Given the description of an element on the screen output the (x, y) to click on. 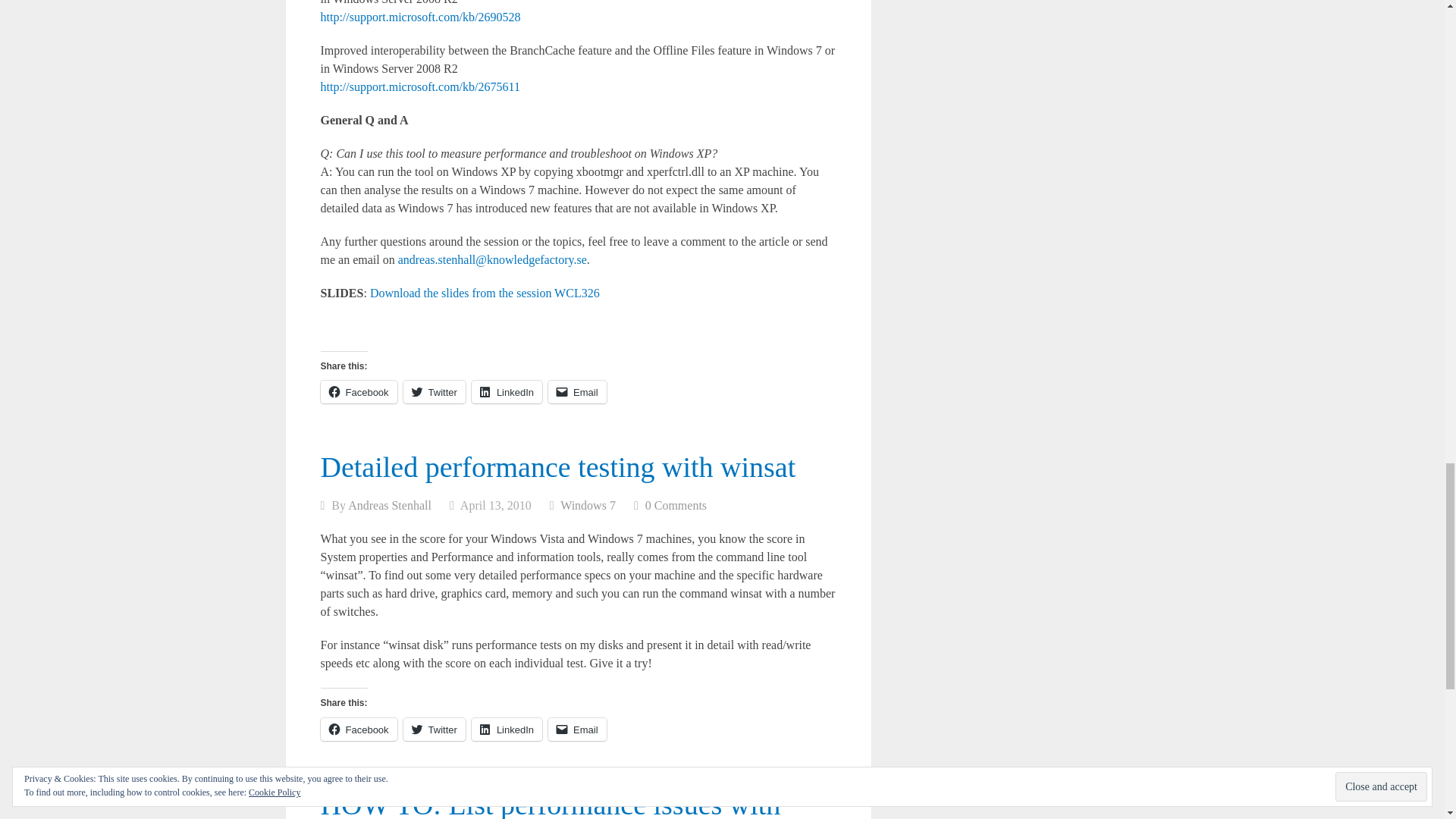
Twitter (434, 391)
Facebook (358, 391)
Facebook (358, 729)
Click to email a link to a friend (577, 391)
Click to share on Facebook (358, 391)
Click to share on Twitter (434, 729)
Detailed performance testing with winsat (557, 467)
Detailed performance testing with winsat (557, 467)
LinkedIn (506, 391)
Andreas Stenhall (388, 504)
Email (577, 729)
Click to share on LinkedIn (506, 729)
0 Comments (675, 504)
